Given the description of an element on the screen output the (x, y) to click on. 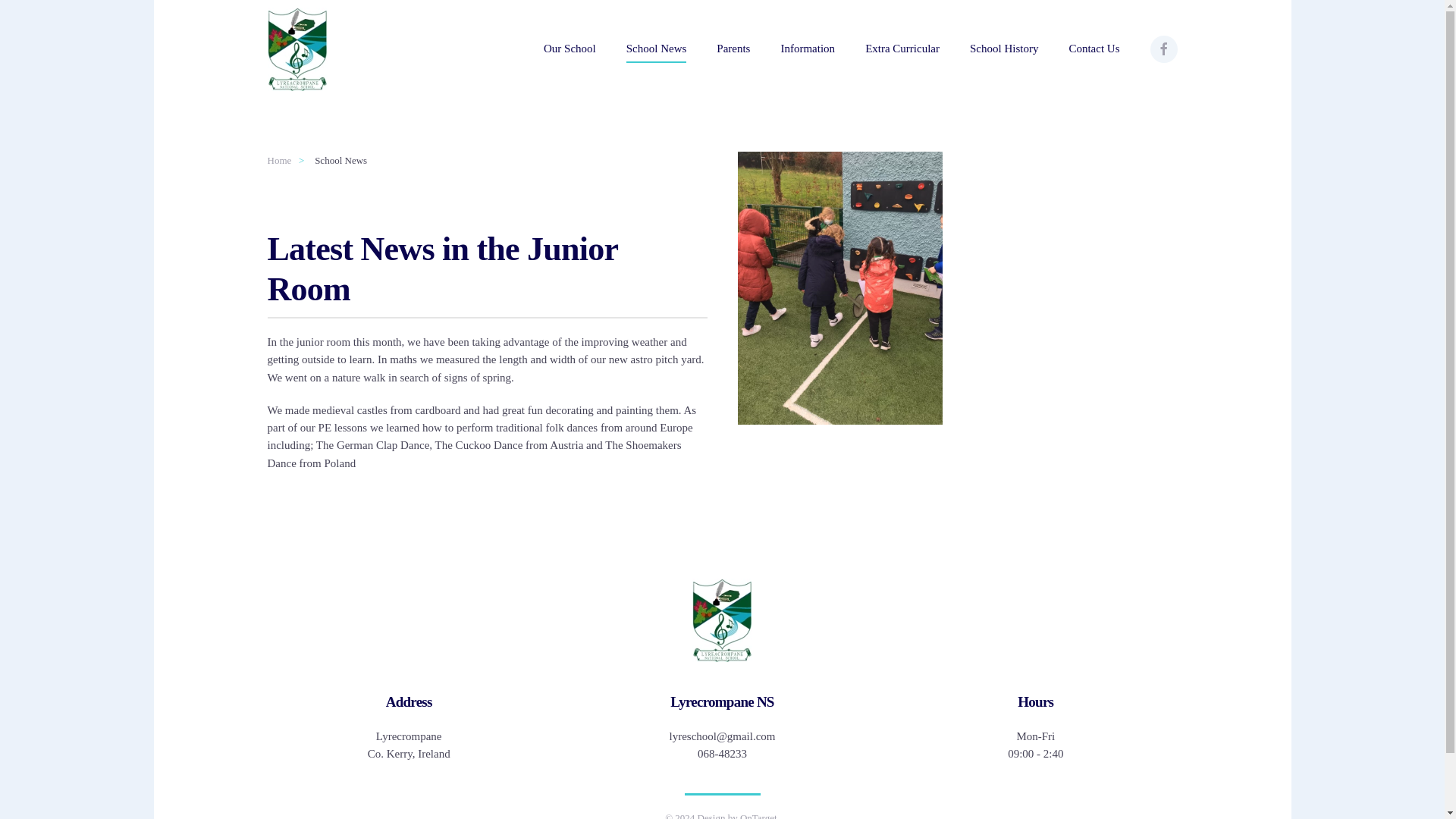
Hours (1034, 702)
School News (656, 48)
Information (807, 48)
School History (1003, 48)
Address (408, 702)
068-48233 (721, 753)
Lyrecrompane NS (721, 702)
OnTarget (408, 745)
Home (758, 815)
